Given the description of an element on the screen output the (x, y) to click on. 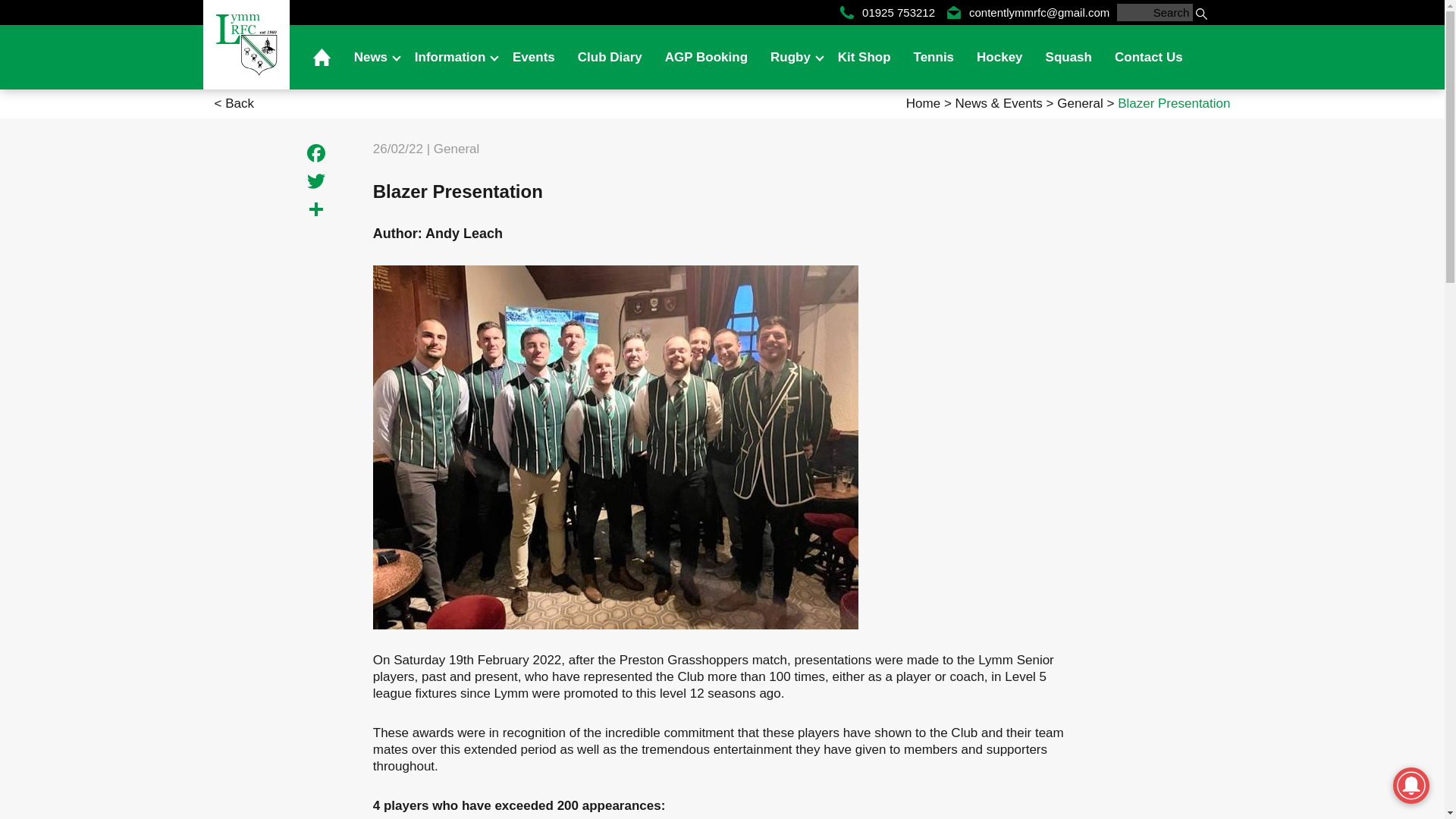
Events (533, 57)
01925 753212 (887, 11)
Club Diary (609, 57)
Information (451, 57)
AGP Booking (705, 57)
Twitter (316, 182)
Go to Lymm RFC. (924, 103)
Rugby (792, 57)
News (372, 57)
Facebook (316, 154)
